Given the description of an element on the screen output the (x, y) to click on. 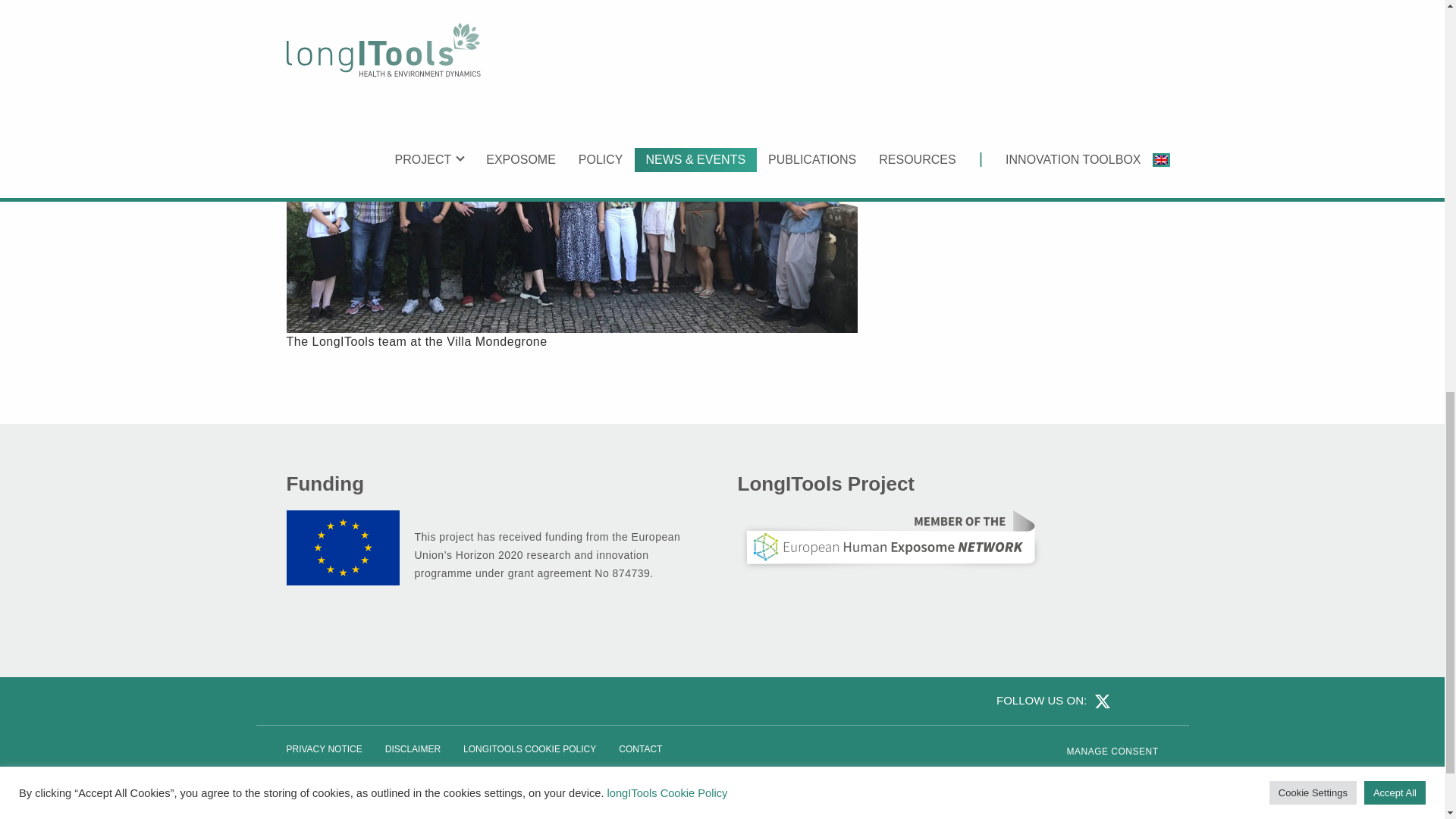
LONGITOOLS COOKIE POLICY (529, 749)
DISCLAIMER (412, 749)
CONTACT (639, 749)
LINKEDIN (1126, 699)
MANAGE CONSENT (1111, 751)
Follow us on X (1099, 699)
LONGITOOLS (1102, 778)
Home (1102, 778)
PRIVACY NOTICE (323, 749)
Follow us on Linkedin (1126, 699)
Follow us on Youtube (1146, 699)
YOUTUBE (1146, 699)
